Given the description of an element on the screen output the (x, y) to click on. 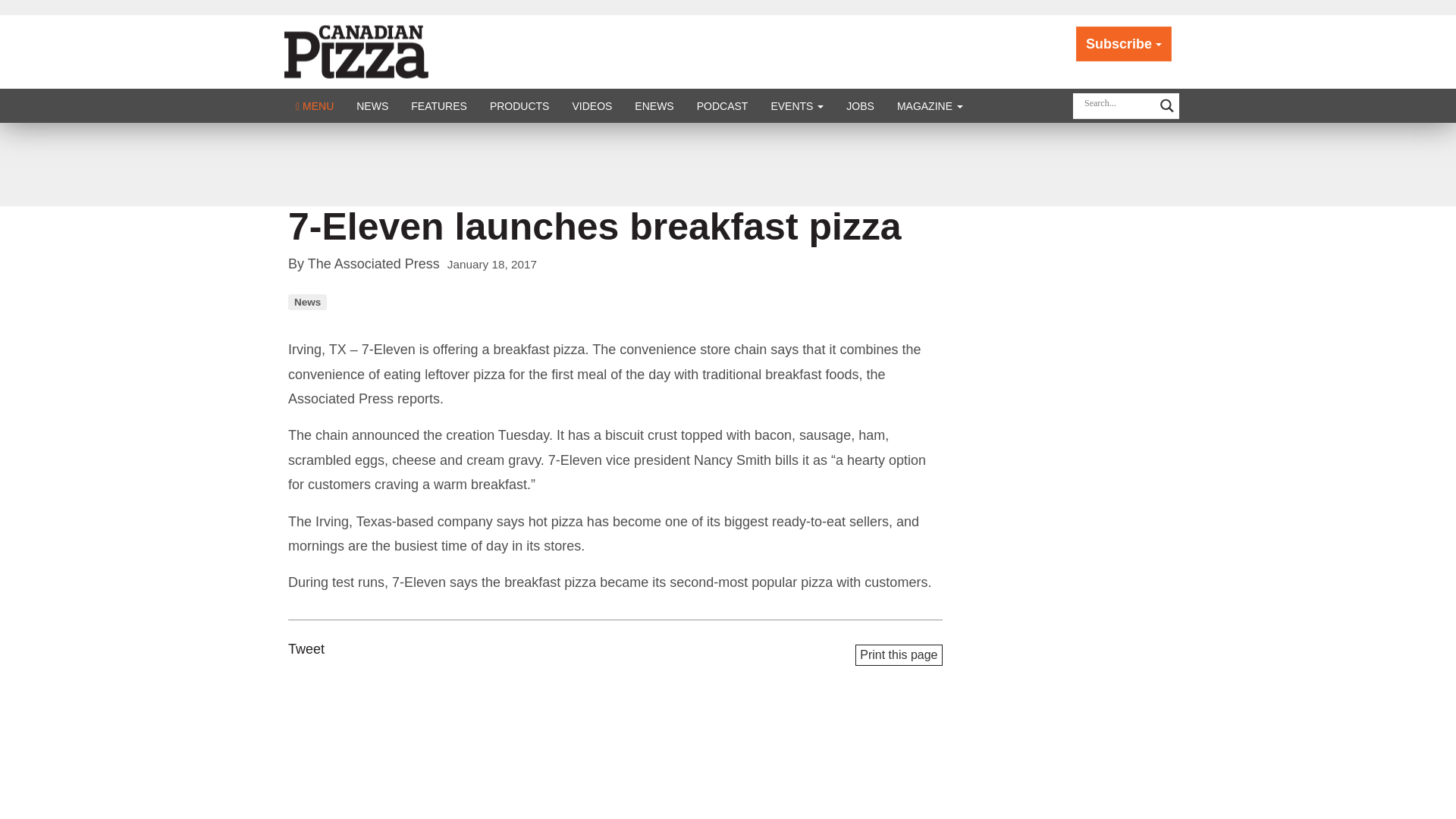
Subscribe (1123, 43)
PODCAST (722, 105)
ENEWS (653, 105)
Click to show site navigation (314, 105)
NEWS (371, 105)
3rd party ad content (727, 164)
JOBS (859, 105)
EVENTS (796, 105)
Canadian Pizza Magazine (373, 50)
MAGAZINE (929, 105)
